Given the description of an element on the screen output the (x, y) to click on. 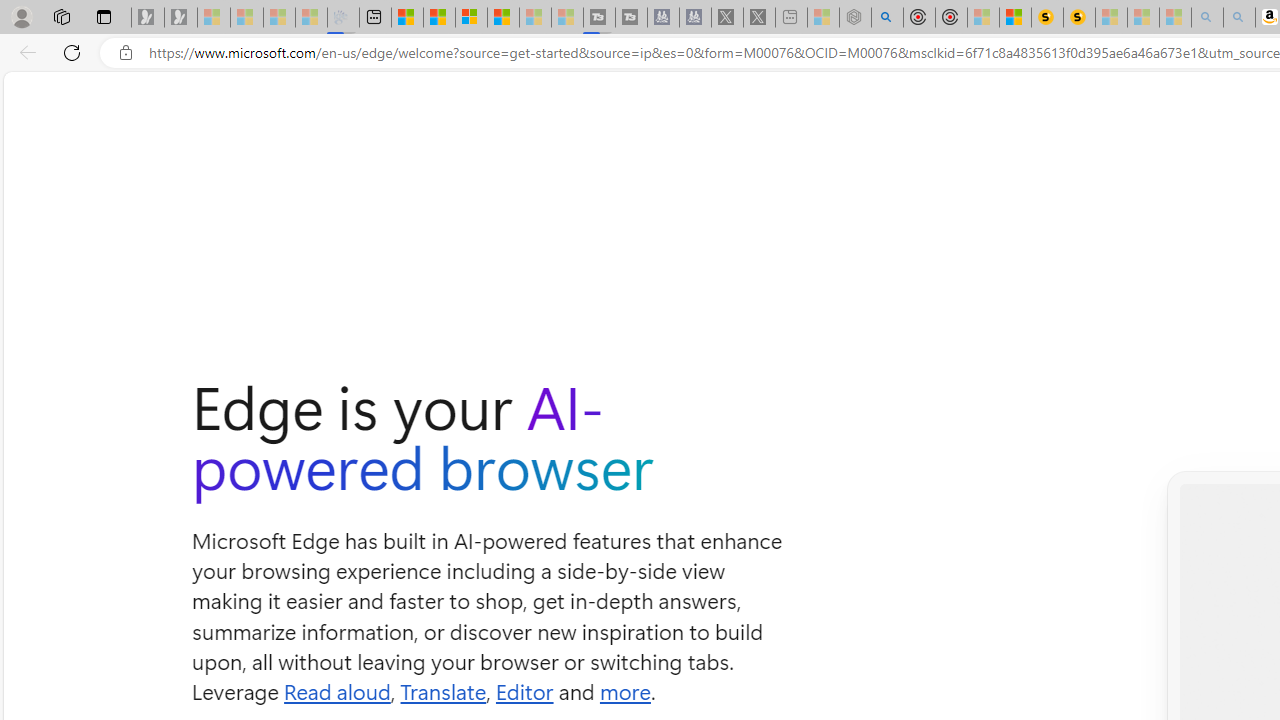
Newsletter Sign Up - Sleeping (181, 17)
Nordace - Summer Adventures 2024 - Sleeping (855, 17)
amazon - Search - Sleeping (1206, 17)
Amazon Echo Dot PNG - Search Images - Sleeping (1239, 17)
